Given the description of an element on the screen output the (x, y) to click on. 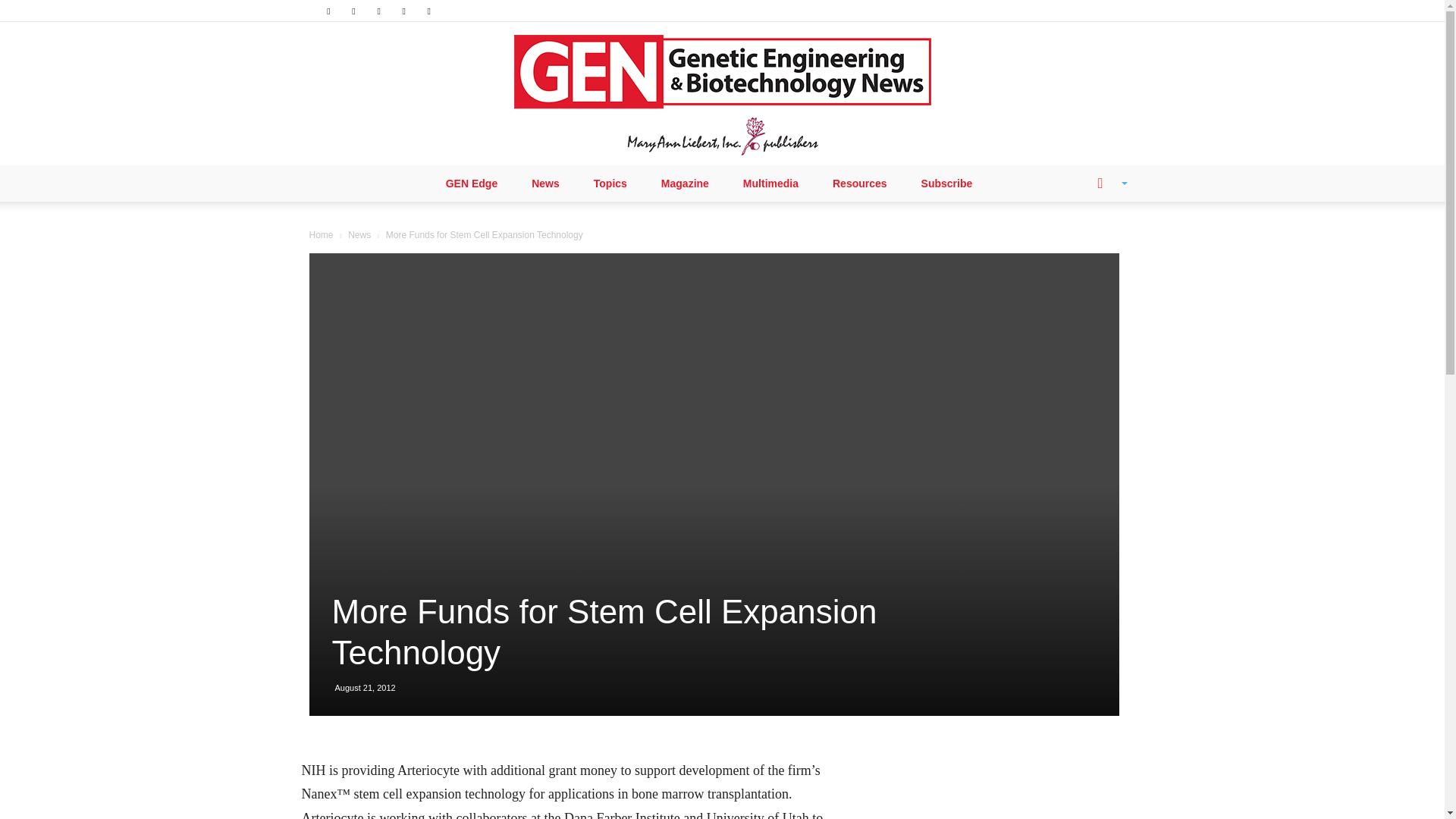
Twitter (403, 10)
Youtube (429, 10)
RSS (379, 10)
Linkedin (353, 10)
View all posts in News (359, 235)
Facebook (328, 10)
